Given the description of an element on the screen output the (x, y) to click on. 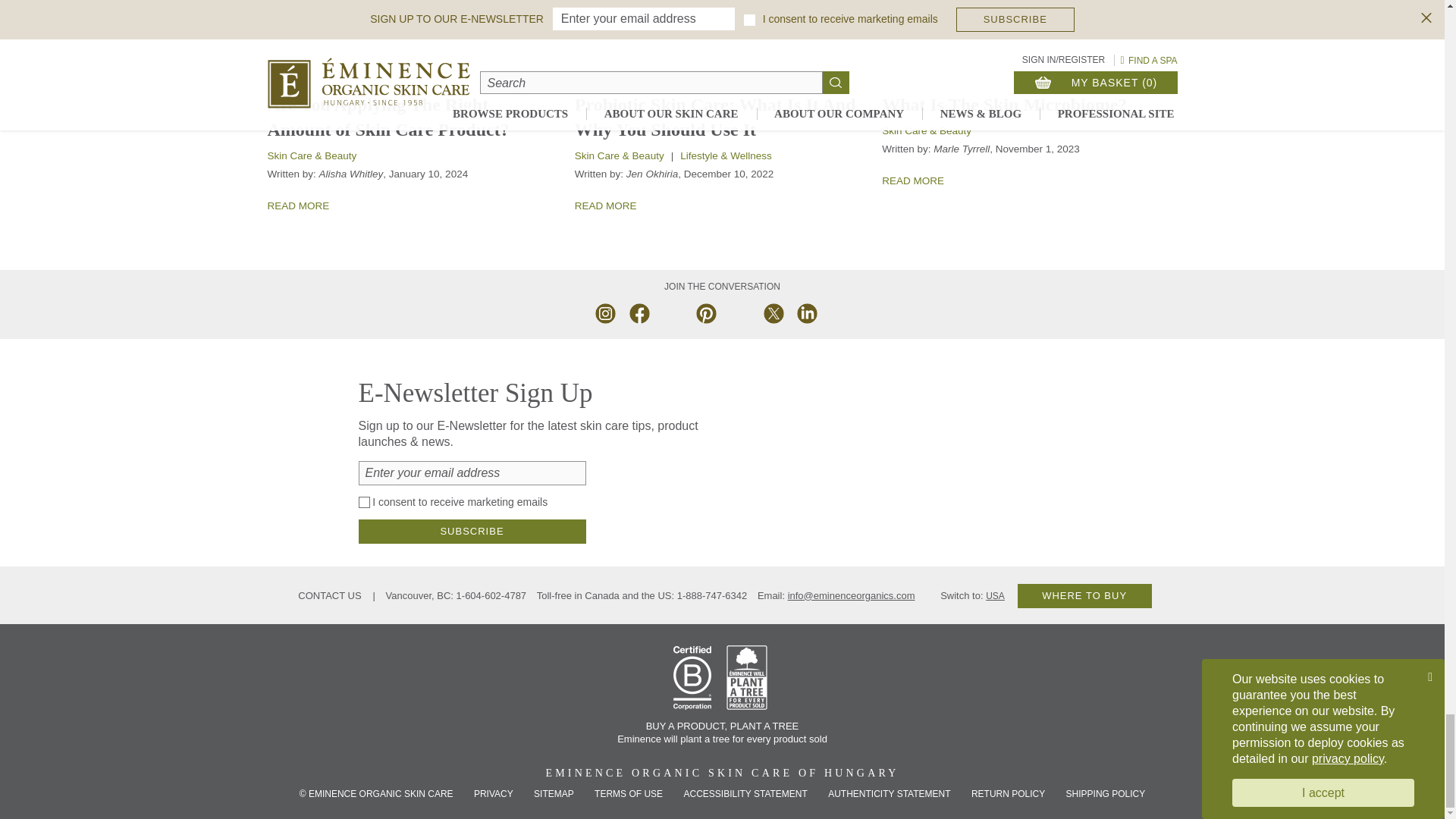
Blog (839, 311)
YouTube (671, 311)
Twitter (772, 311)
1 (363, 501)
Pinterest (705, 311)
LinkedIn (805, 311)
Facebook (638, 311)
Instagram (604, 311)
SUBSCRIBE (471, 531)
